Given the description of an element on the screen output the (x, y) to click on. 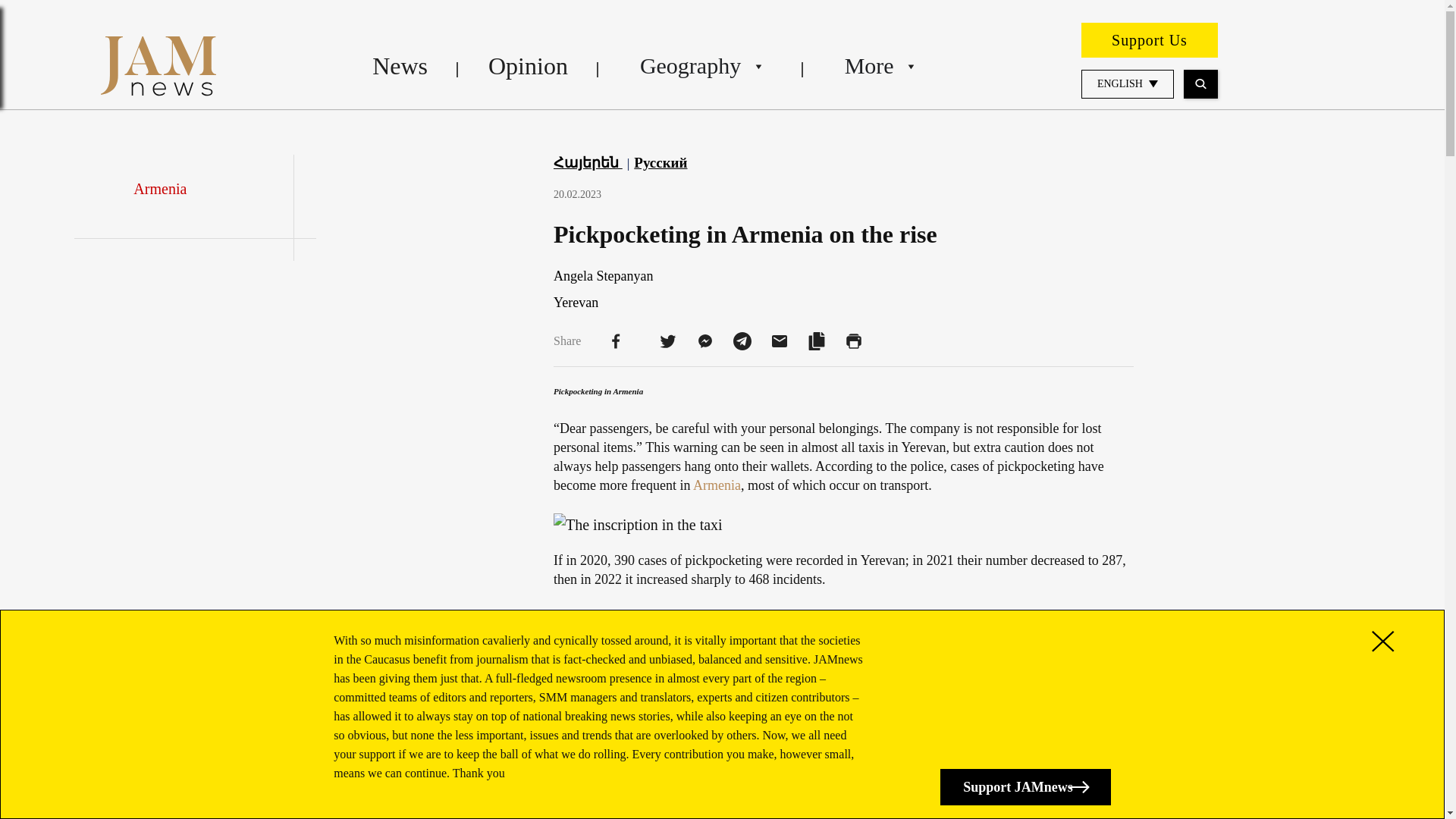
Opinion (528, 65)
Support Us (1149, 39)
News (400, 65)
Geography (700, 65)
More (878, 65)
